Given the description of an element on the screen output the (x, y) to click on. 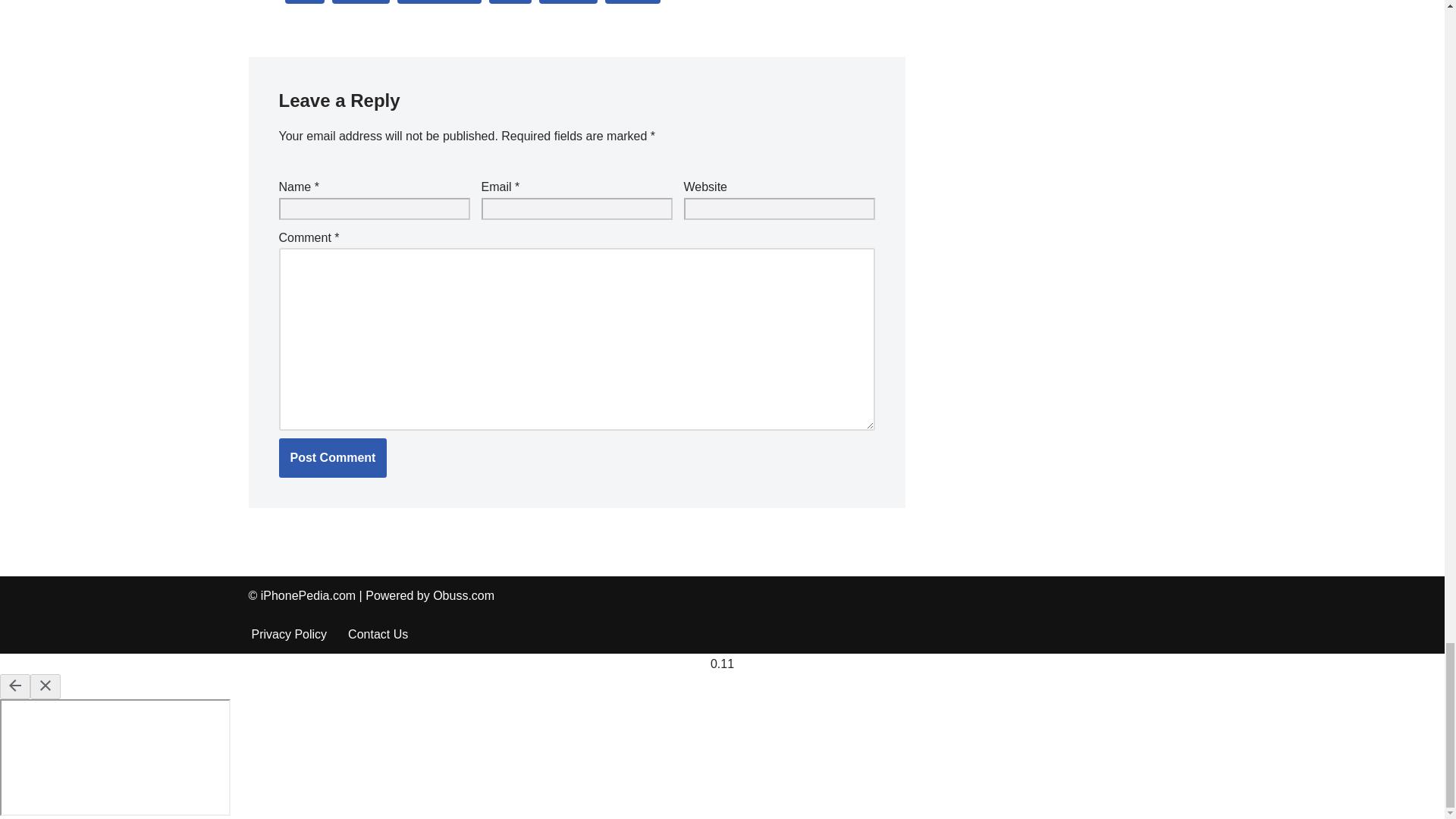
RELEASE (567, 2)
iphone 9 (360, 2)
rumors (633, 2)
news (510, 2)
RUMORS (633, 2)
release (567, 2)
IPHONE 9 PLUS (439, 2)
date (304, 2)
Post Comment (333, 457)
IPHONE 9 (360, 2)
DATE (304, 2)
iphone 9 plus (439, 2)
NEWS (510, 2)
